Given the description of an element on the screen output the (x, y) to click on. 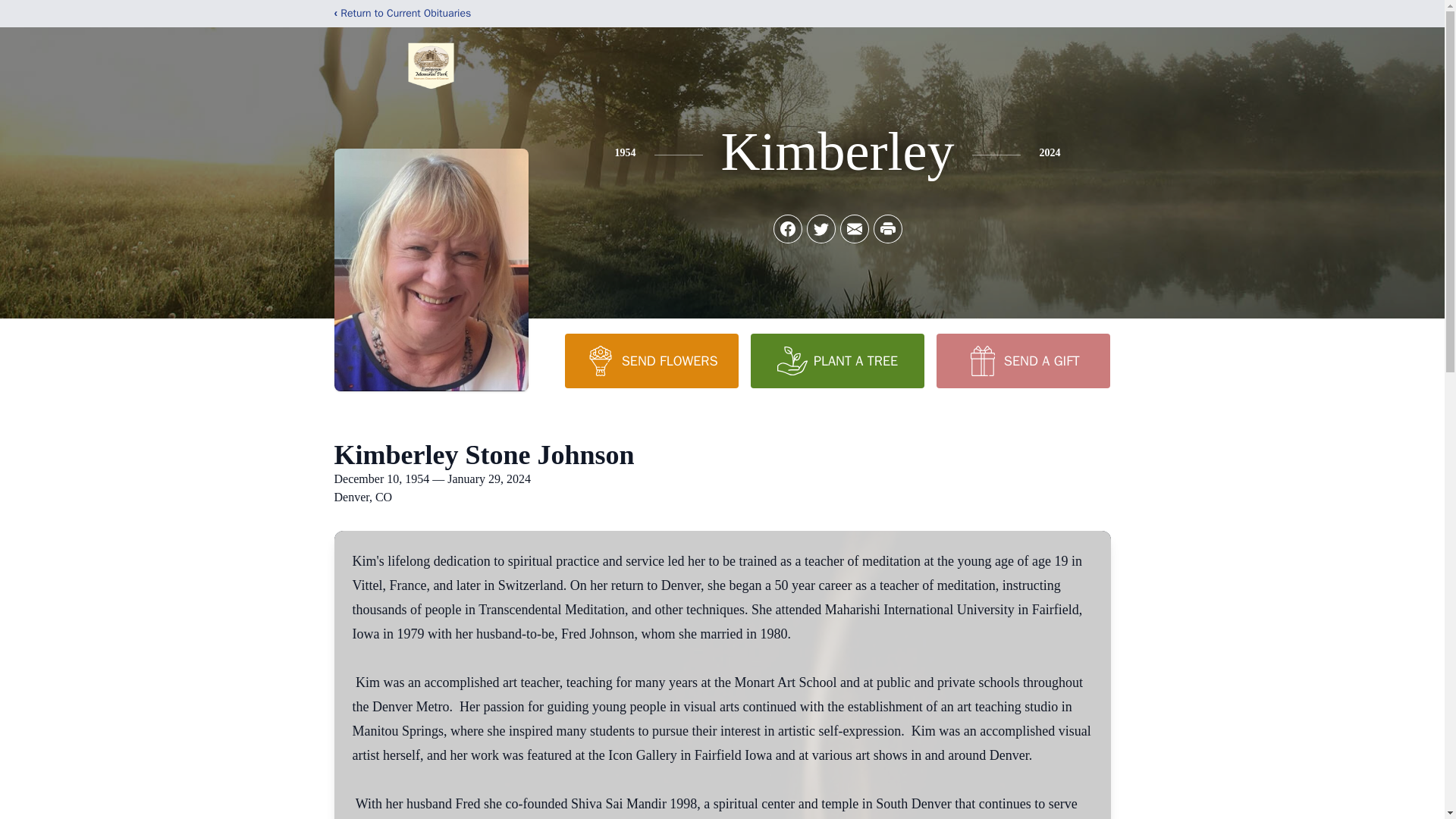
SEND FLOWERS (651, 360)
SEND A GIFT (1022, 360)
PLANT A TREE (837, 360)
